Given the description of an element on the screen output the (x, y) to click on. 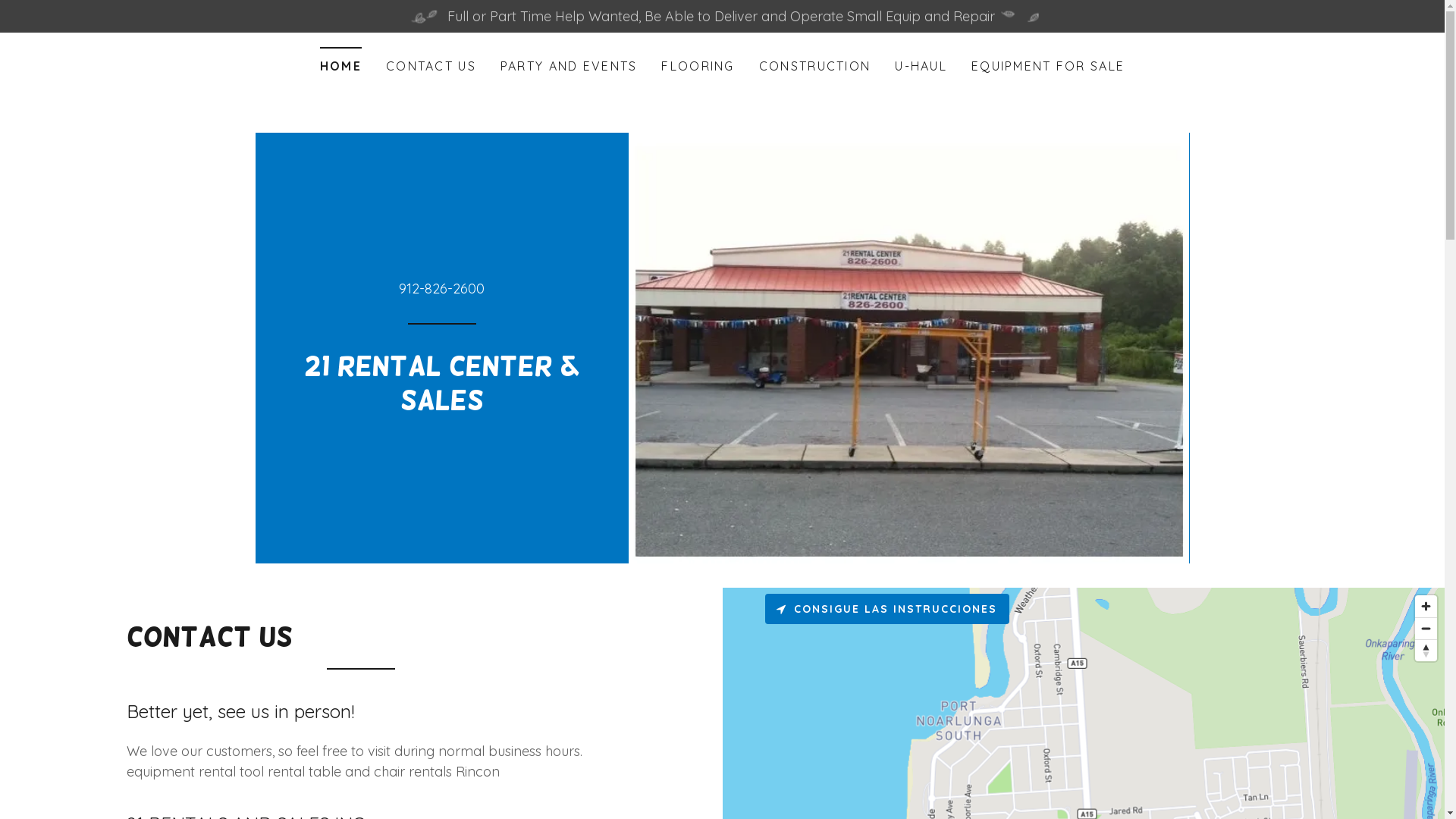
CONSIGUE LAS INSTRUCCIONES Element type: text (886, 608)
PARTY AND EVENTS Element type: text (568, 65)
Zoom out Element type: hover (1426, 628)
CONSTRUCTION Element type: text (814, 65)
FLOORING Element type: text (697, 65)
HOME Element type: text (340, 61)
912-826-2600 Element type: text (441, 288)
U-HAUL Element type: text (920, 65)
CONTACT US Element type: text (430, 65)
Zoom in Element type: hover (1426, 606)
EQUIPMENT FOR SALE Element type: text (1047, 65)
Reset bearing to north Element type: hover (1426, 650)
